Given the description of an element on the screen output the (x, y) to click on. 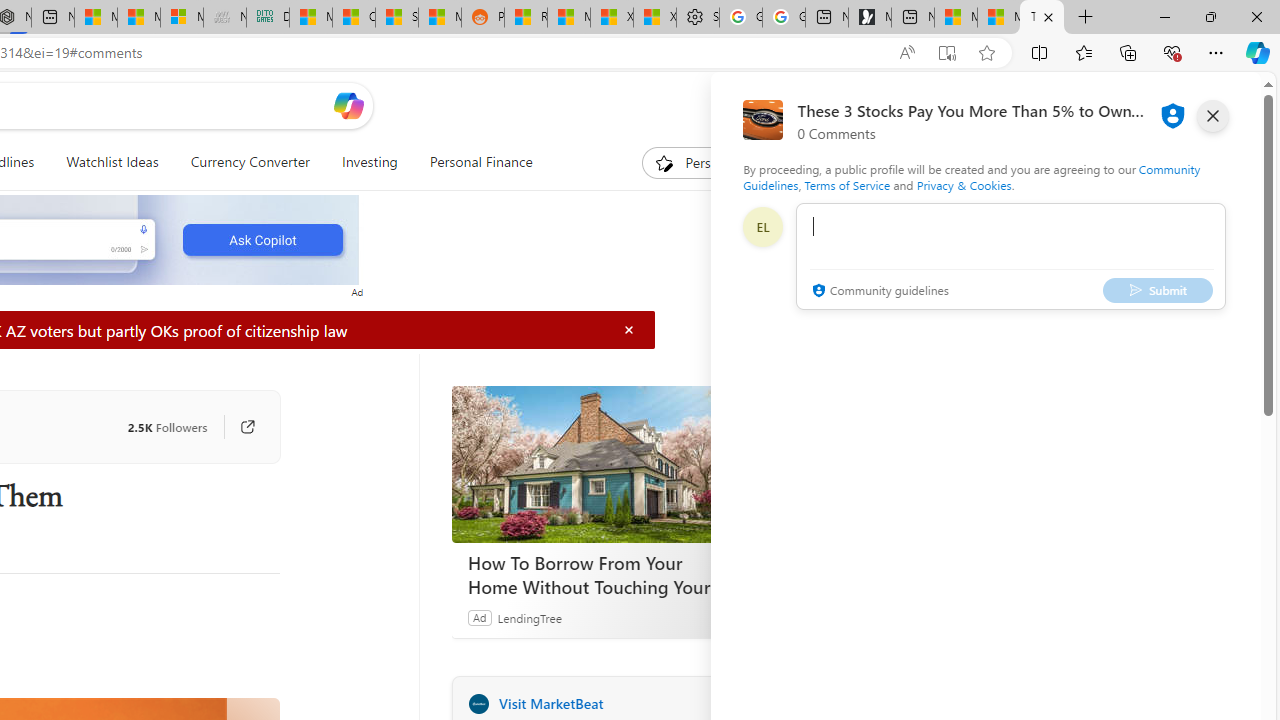
R******* | Trusted Community Engagement and Contributions (525, 17)
comment-box (1011, 256)
Currency Converter (249, 162)
These 3 Stocks Pay You More Than 5% to Own Them (1042, 17)
Investing (369, 162)
